Given the description of an element on the screen output the (x, y) to click on. 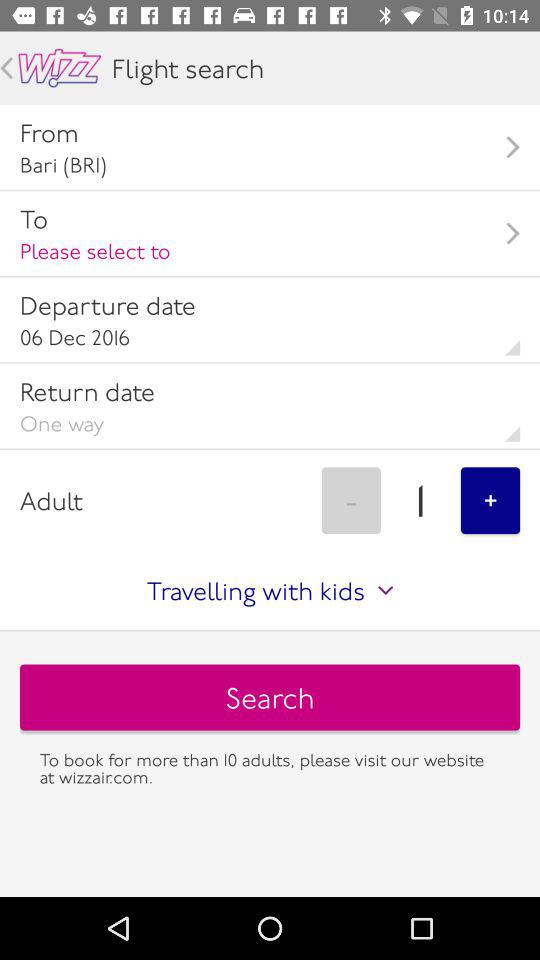
scroll to + item (490, 500)
